Given the description of an element on the screen output the (x, y) to click on. 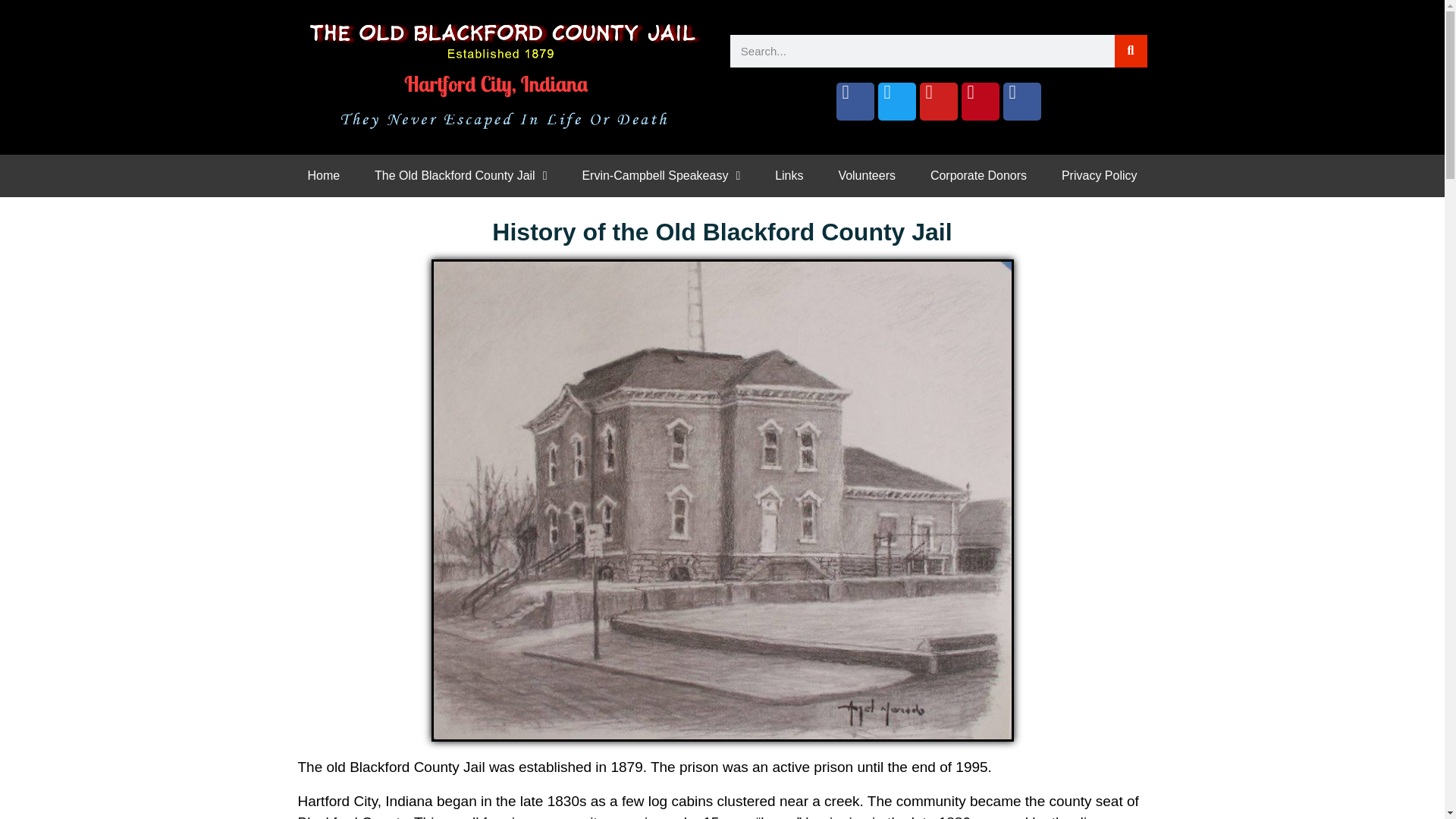
Links (789, 175)
Ervin-Campbell Speakeasy (660, 175)
Home (322, 175)
Corporate Donors (977, 175)
Volunteers (866, 175)
The Old Blackford County Jail (460, 175)
Privacy Policy (1098, 175)
